Given the description of an element on the screen output the (x, y) to click on. 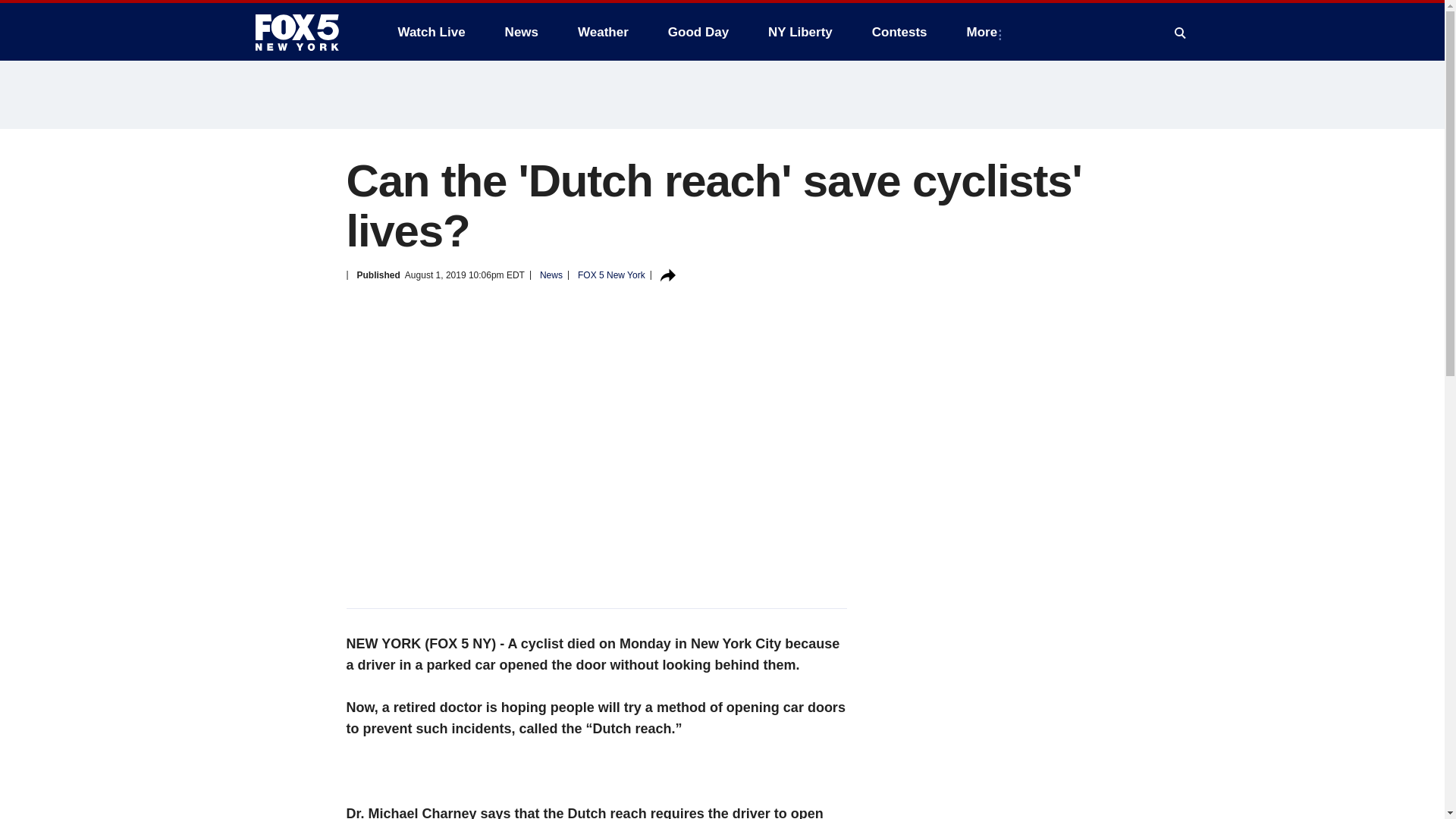
Weather (603, 32)
Contests (899, 32)
Watch Live (431, 32)
NY Liberty (799, 32)
News (521, 32)
Good Day (698, 32)
More (985, 32)
